Given the description of an element on the screen output the (x, y) to click on. 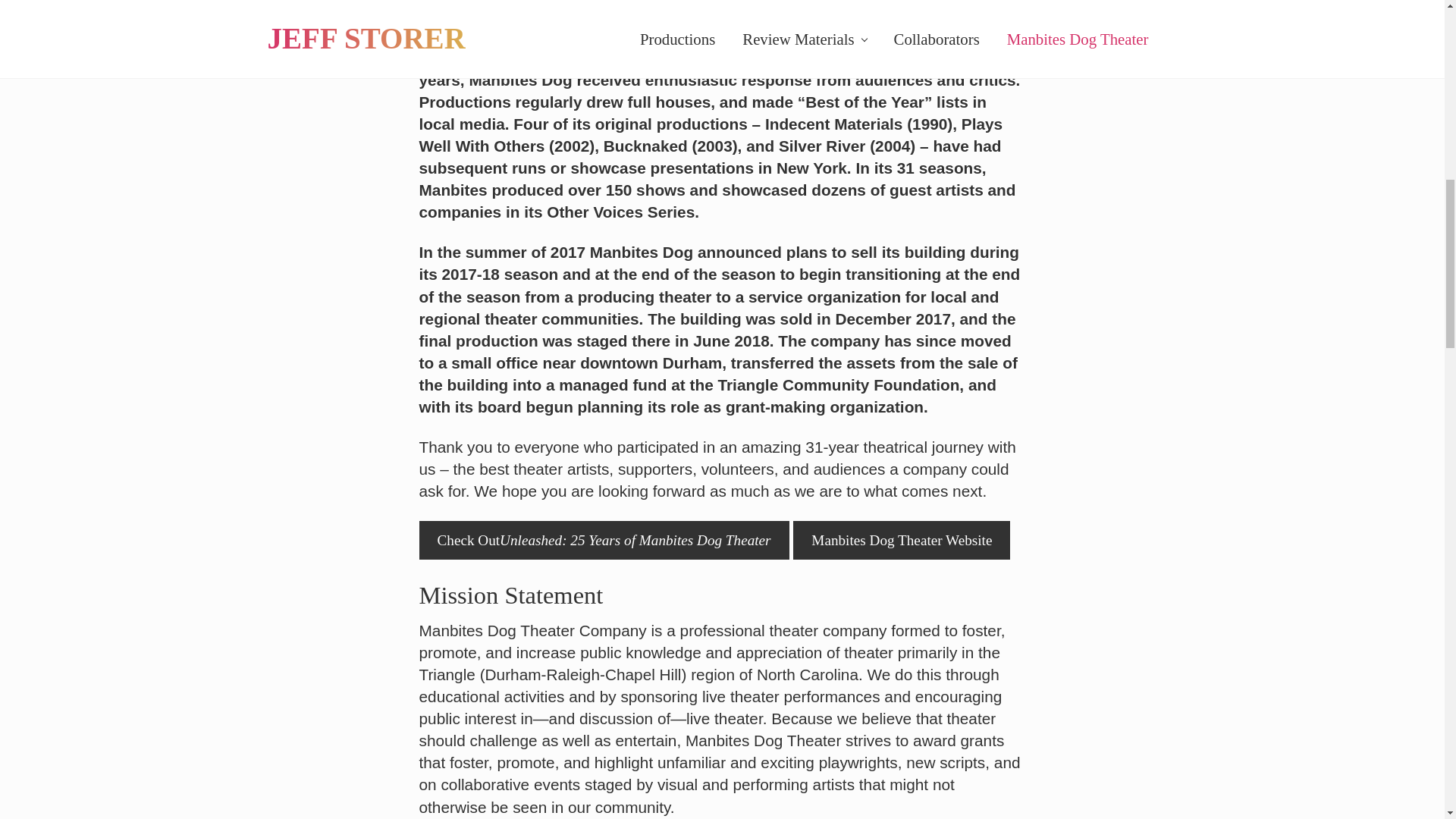
Manbites Dog Theater Website (901, 539)
